Given the description of an element on the screen output the (x, y) to click on. 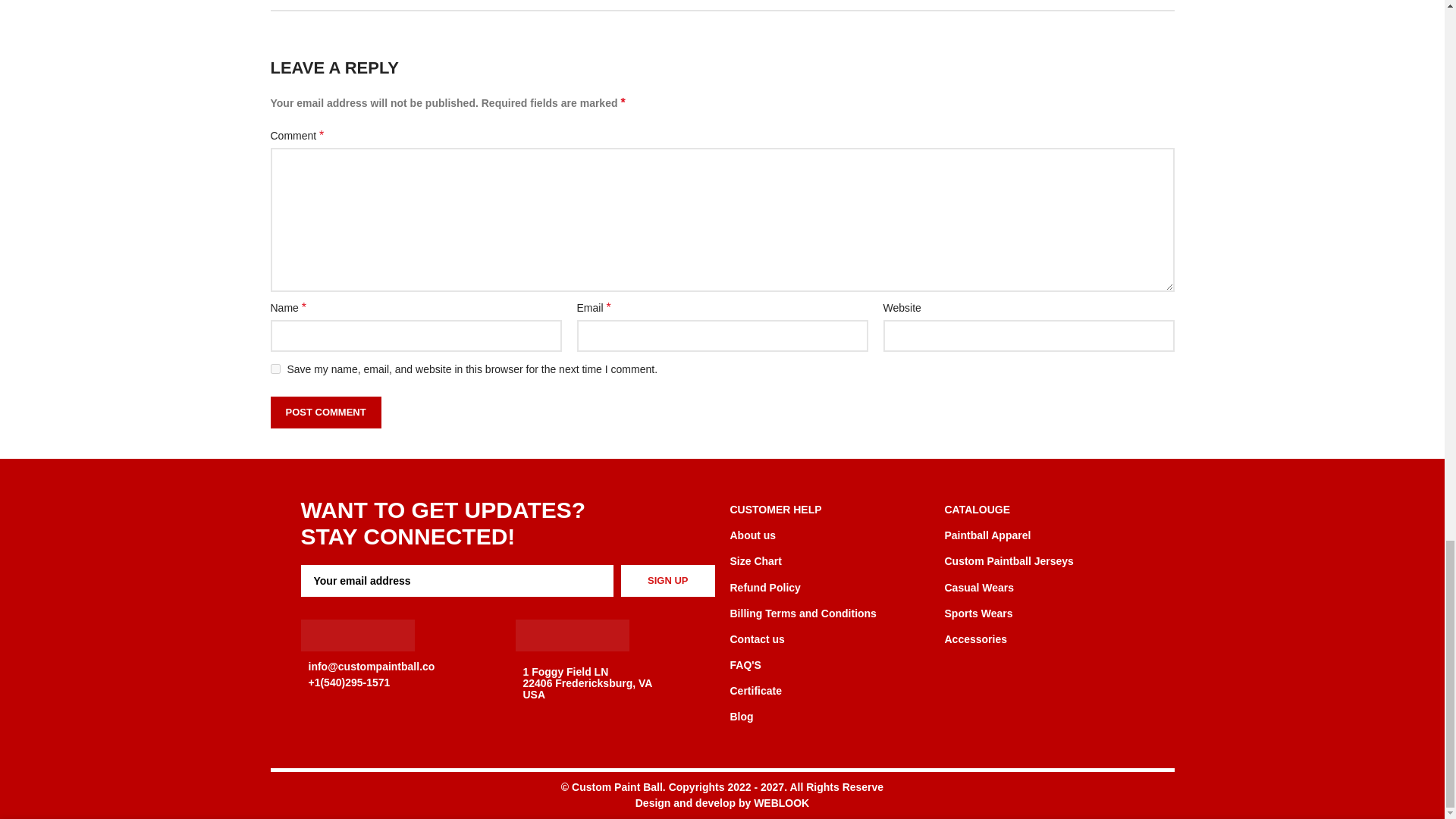
location (571, 635)
yes (274, 368)
contact-us (356, 635)
Post Comment (324, 412)
Sign up (667, 581)
